Given the description of an element on the screen output the (x, y) to click on. 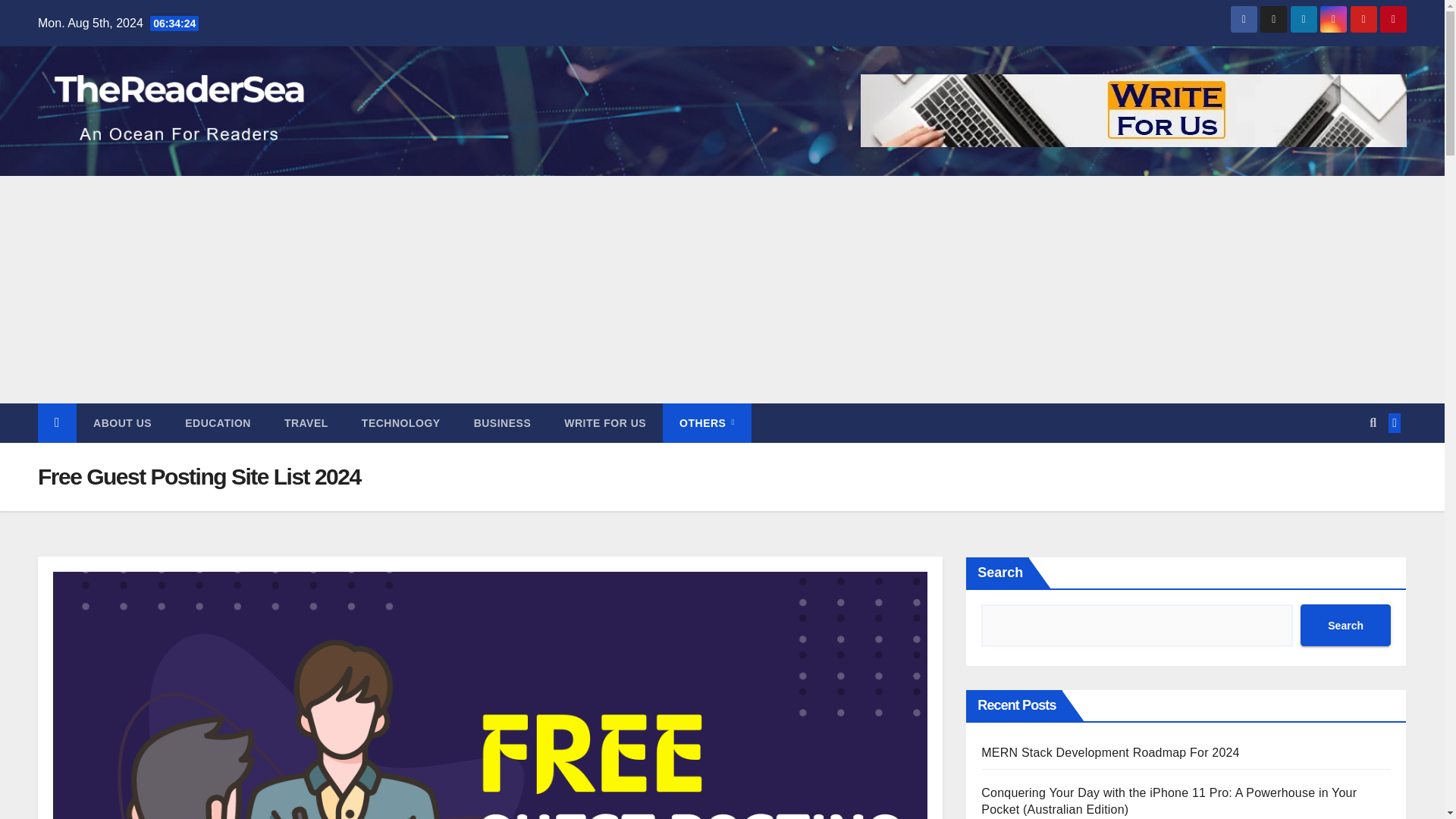
EDUCATION (217, 423)
Technology (401, 423)
TRAVEL (306, 423)
ABOUT US (122, 423)
OTHERS (706, 423)
Education (217, 423)
MERN Stack Development Roadmap For 2024 (1110, 752)
Others (706, 423)
WRITE FOR US (604, 423)
TECHNOLOGY (401, 423)
Search (1345, 625)
Business (502, 423)
Travel (306, 423)
BUSINESS (502, 423)
